Given the description of an element on the screen output the (x, y) to click on. 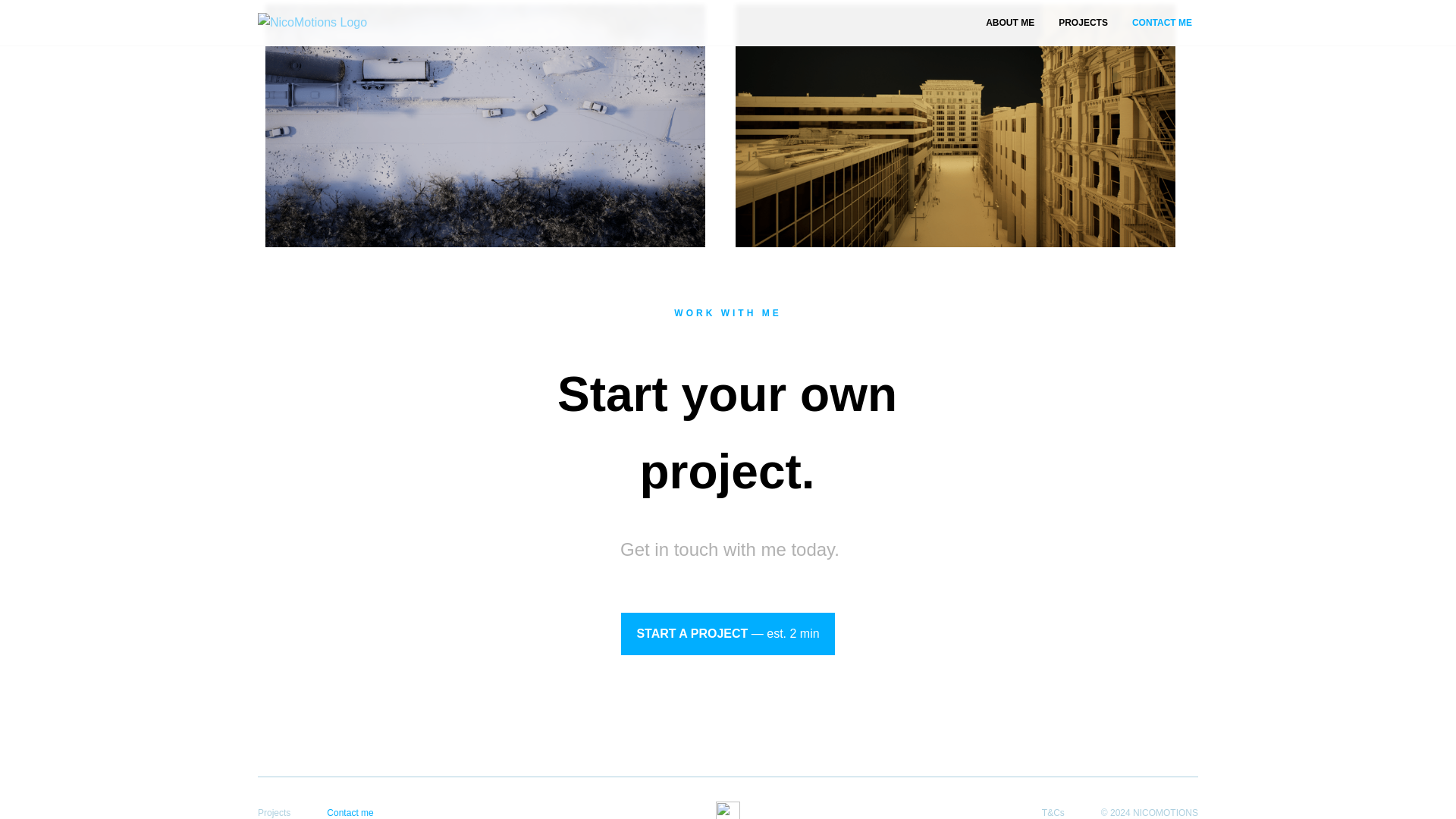
Contact me (349, 812)
Projects (273, 812)
